Given the description of an element on the screen output the (x, y) to click on. 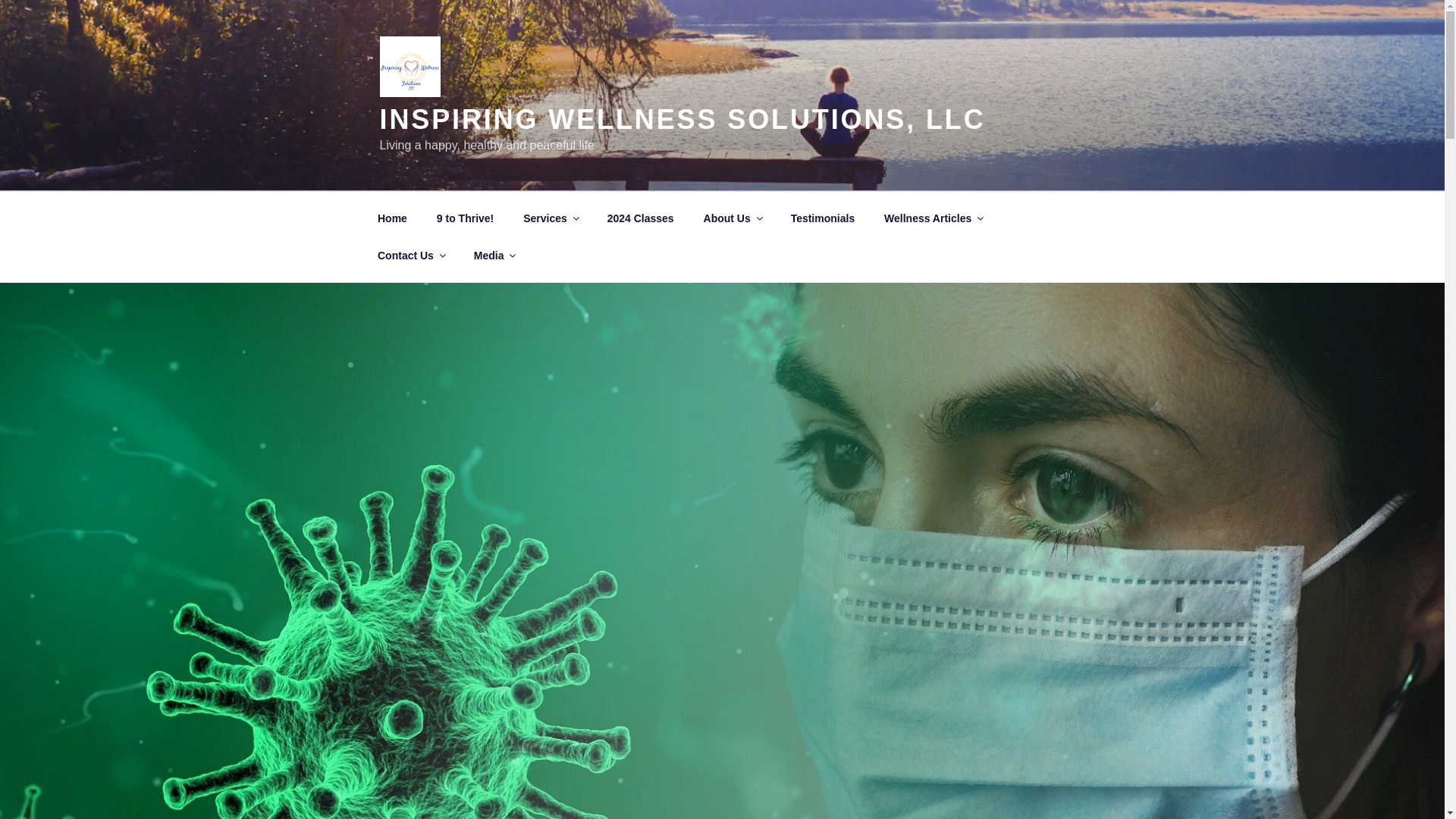
2024 Classes (640, 218)
Services (551, 218)
Home (392, 218)
Contact Us (410, 254)
9 to Thrive! (464, 218)
Media (493, 254)
Testimonials (822, 218)
INSPIRING WELLNESS SOLUTIONS, LLC (681, 119)
About Us (732, 218)
Wellness Articles (932, 218)
